Given the description of an element on the screen output the (x, y) to click on. 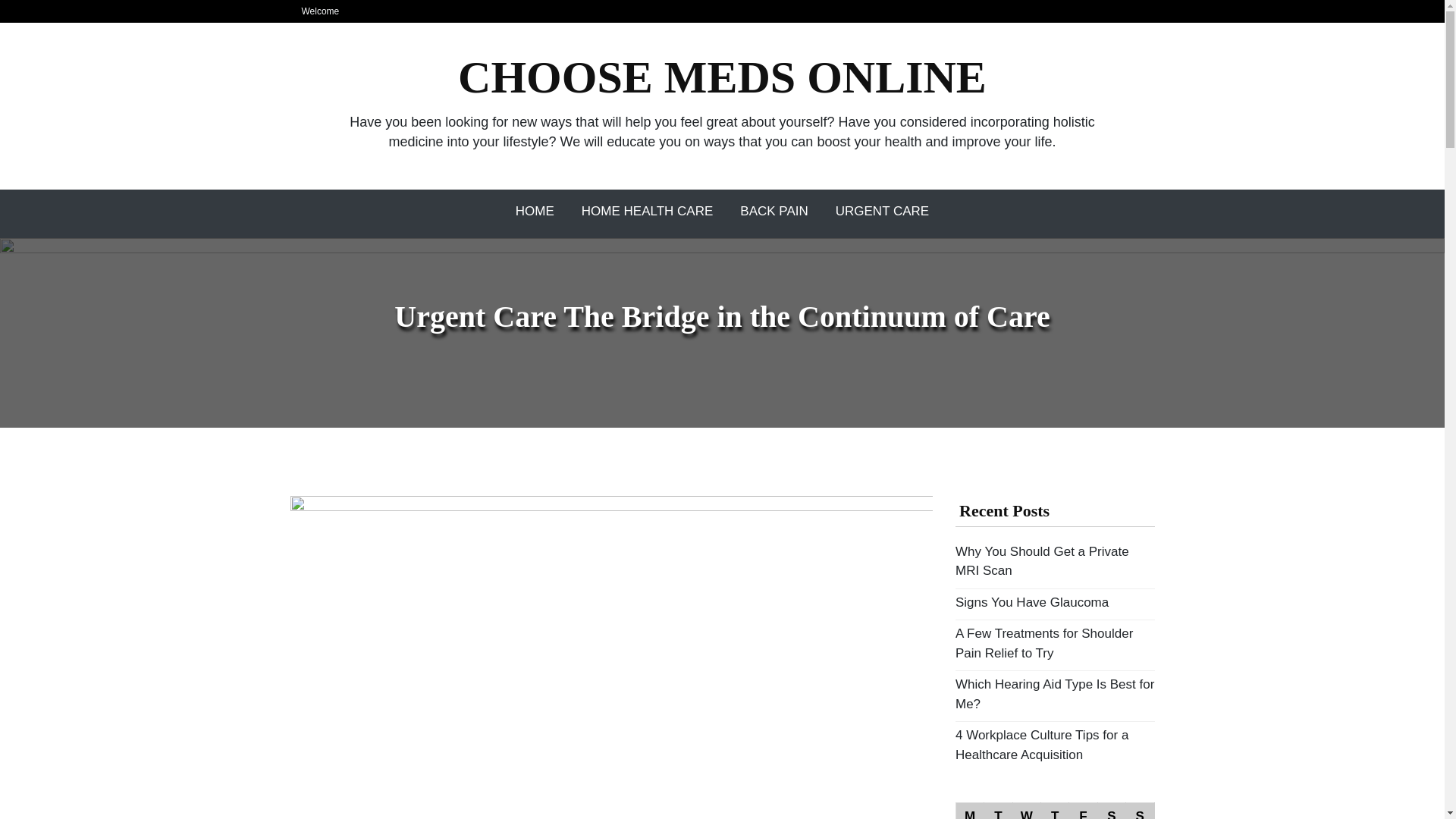
A Few Treatments for Shoulder Pain Relief to Try (1043, 643)
Tuesday (997, 811)
Thursday (1054, 811)
Home (534, 211)
Friday (1082, 811)
BACK PAIN (773, 211)
Back Pain (773, 211)
Which Hearing Aid Type Is Best for Me? (1054, 694)
Why You Should Get a Private MRI Scan (1042, 561)
CHOOSE MEDS ONLINE (722, 77)
